Given the description of an element on the screen output the (x, y) to click on. 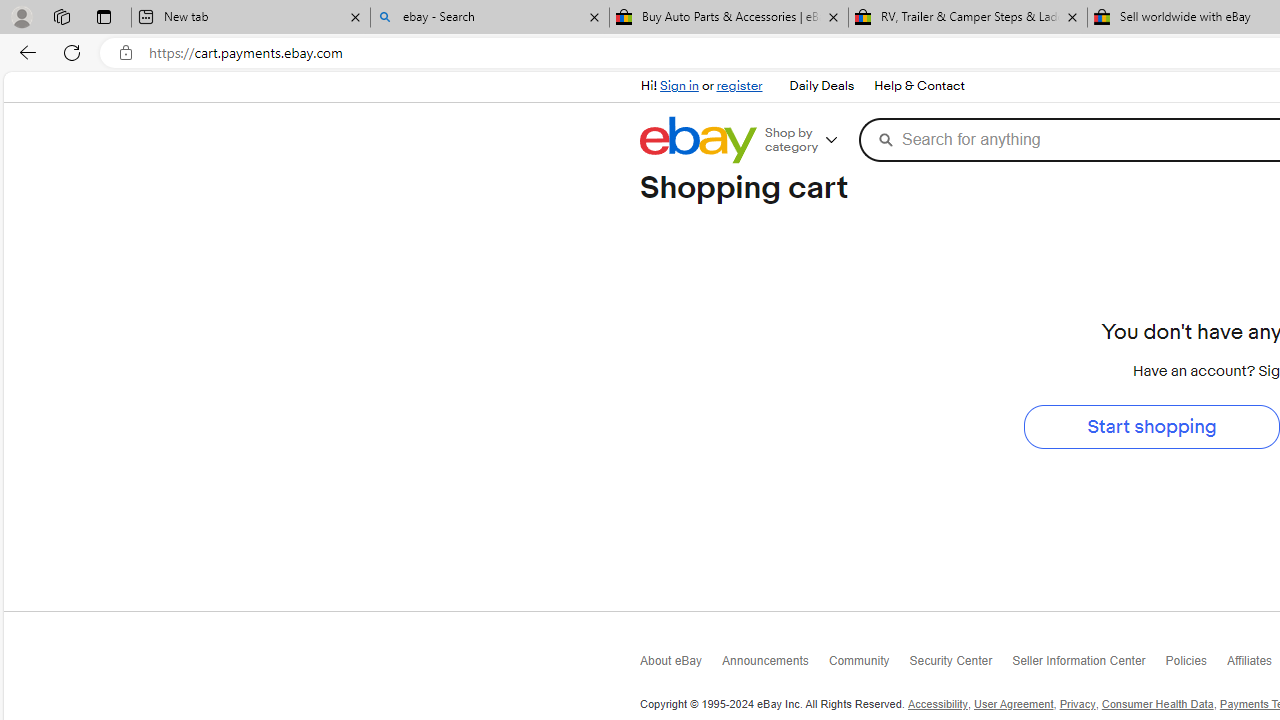
Daily Deals (821, 85)
About eBay (681, 664)
Policies (1195, 665)
eBay Home (698, 139)
Help & Contact (919, 86)
Announcements (775, 664)
Accessibility (937, 704)
Announcements (775, 665)
Shop by category (808, 140)
